Given the description of an element on the screen output the (x, y) to click on. 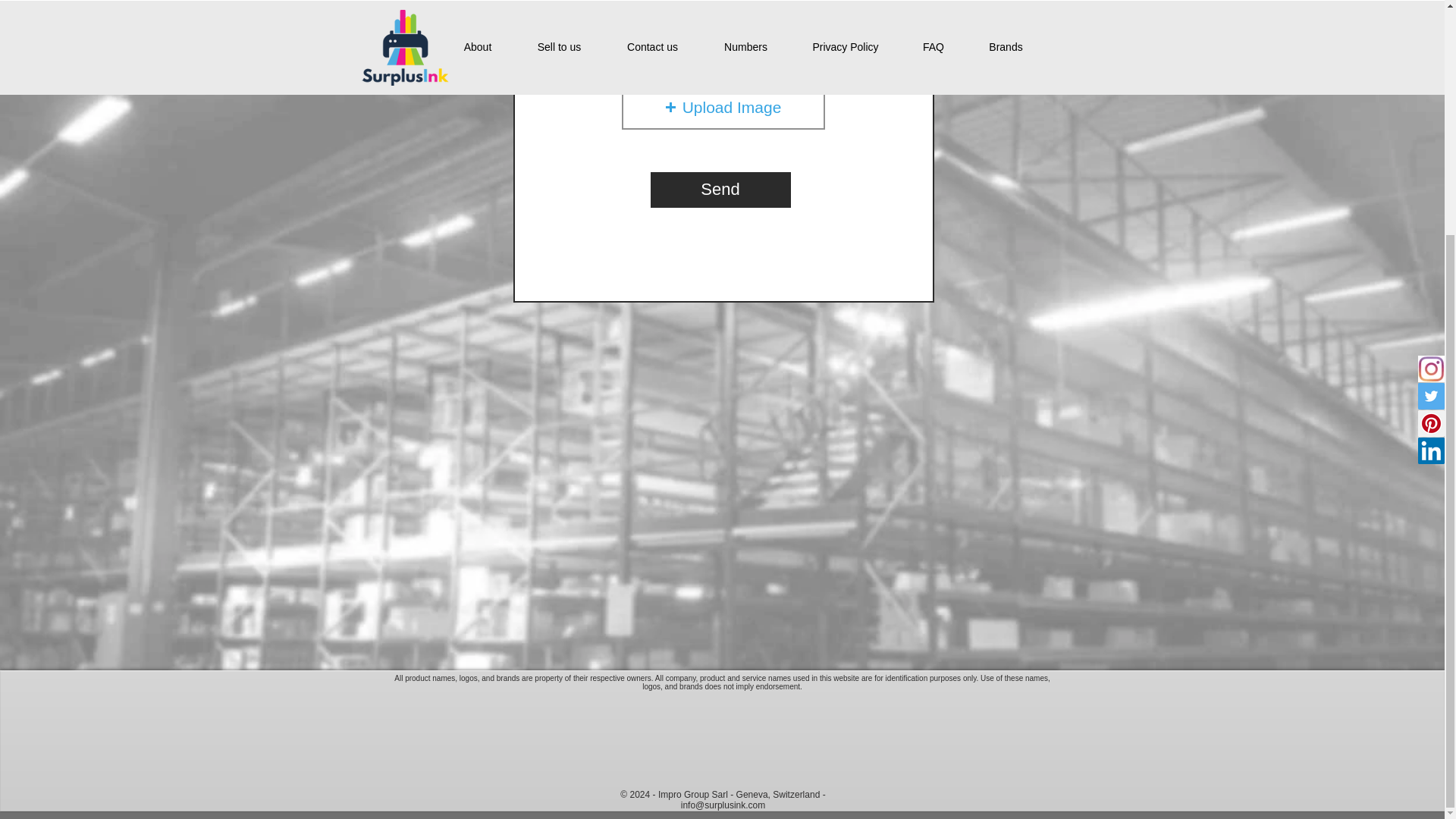
Send (720, 189)
